Given the description of an element on the screen output the (x, y) to click on. 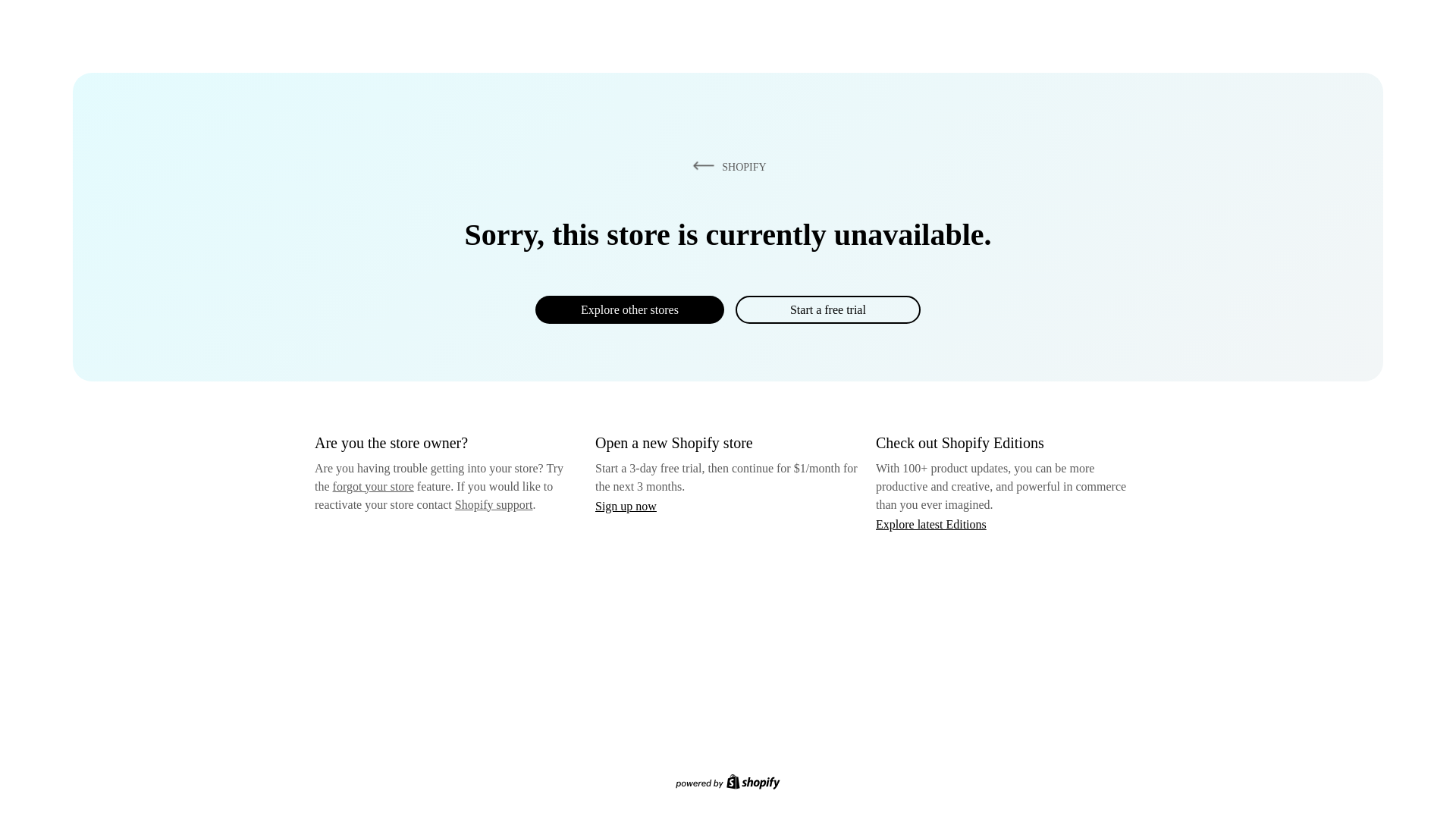
Shopify support (493, 504)
Sign up now (625, 505)
Explore latest Editions (931, 523)
Start a free trial (827, 309)
forgot your store (373, 486)
Explore other stores (629, 309)
SHOPIFY (726, 166)
